Given the description of an element on the screen output the (x, y) to click on. 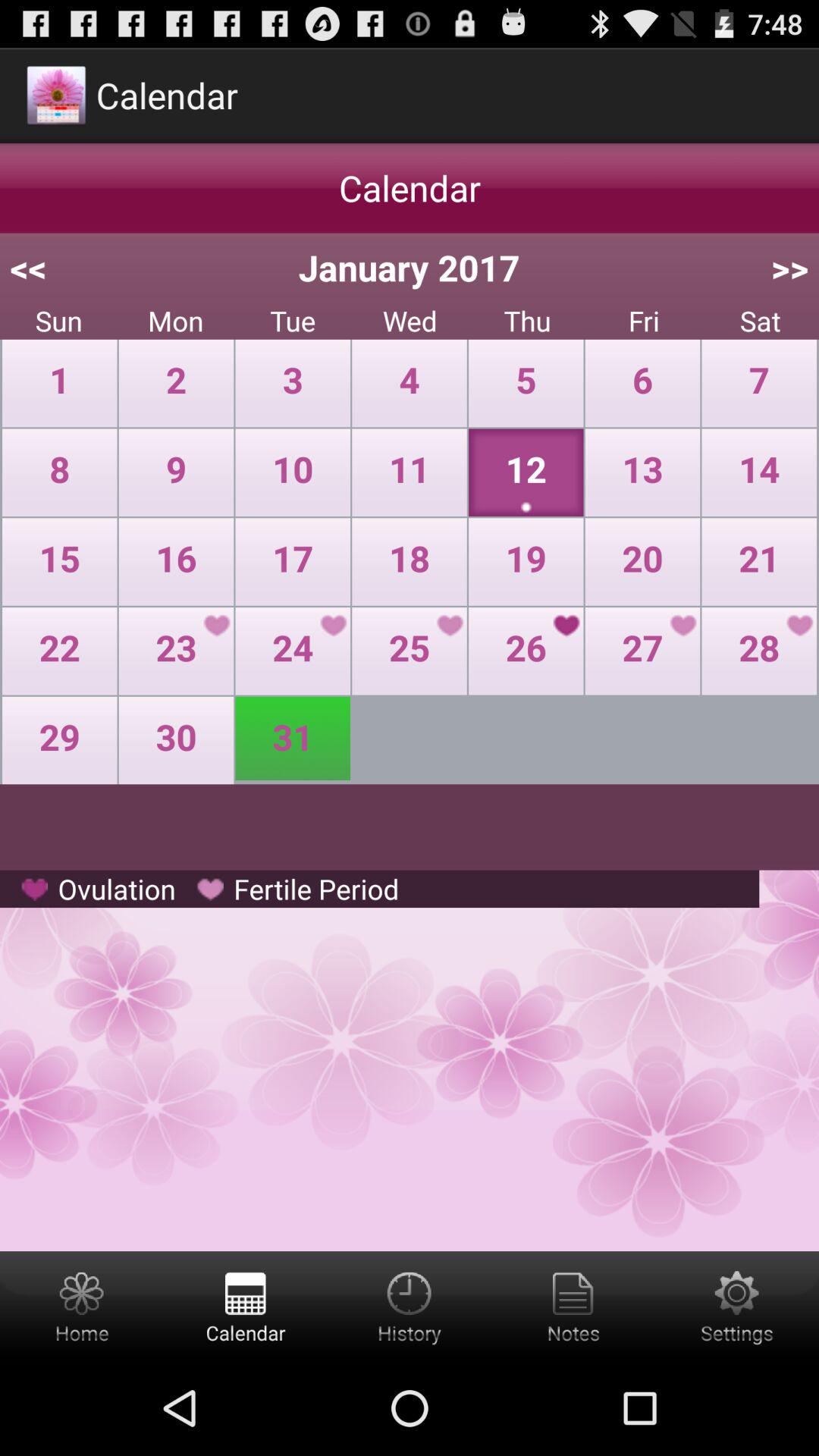
click to the notes symbols (573, 1305)
